Given the description of an element on the screen output the (x, y) to click on. 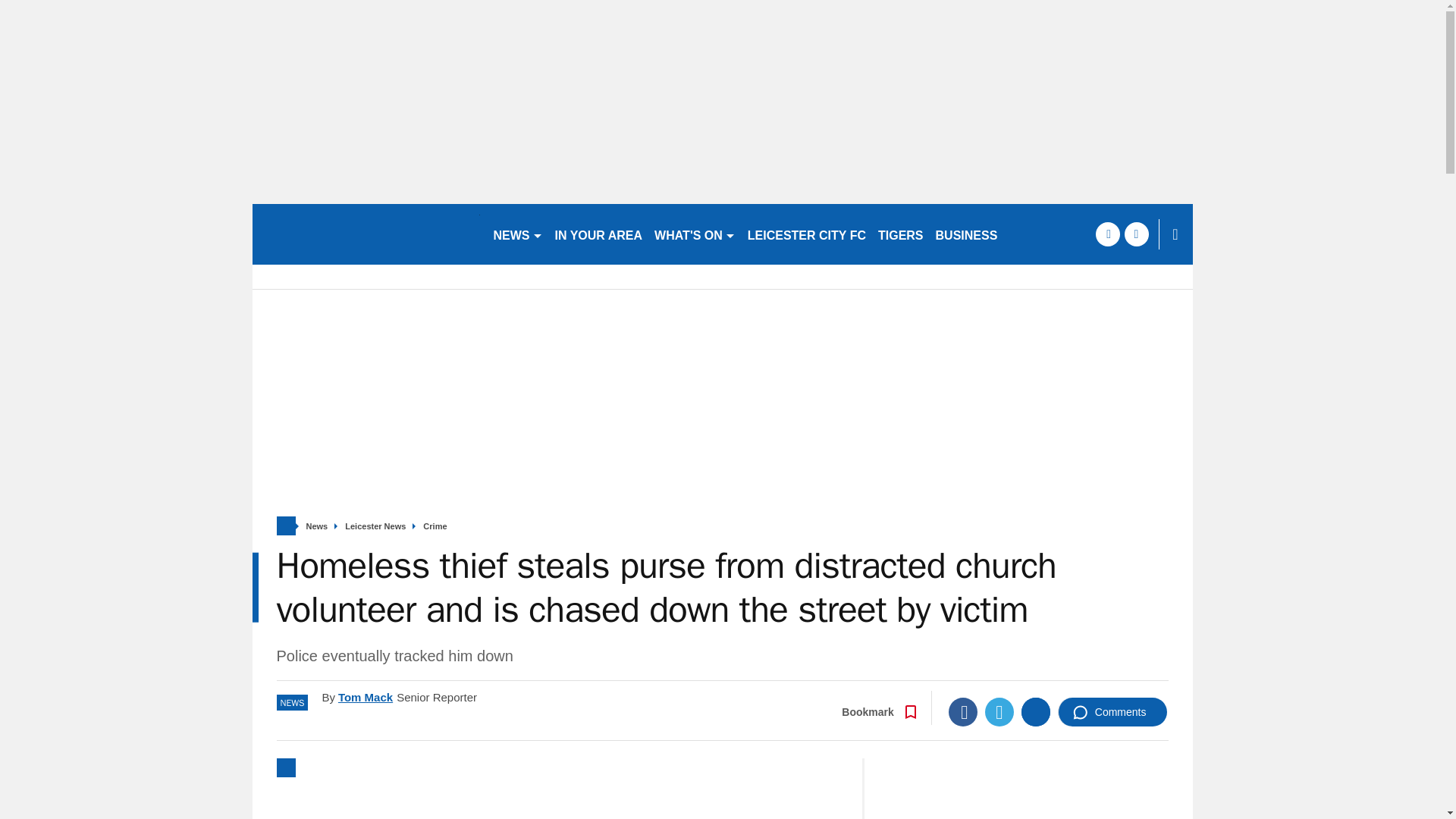
Facebook (962, 711)
leicestermercury (365, 233)
LEICESTER CITY FC (806, 233)
Comments (1112, 711)
NEWS (517, 233)
facebook (1106, 233)
WHAT'S ON (694, 233)
IN YOUR AREA (598, 233)
Twitter (999, 711)
TIGERS (901, 233)
